Given the description of an element on the screen output the (x, y) to click on. 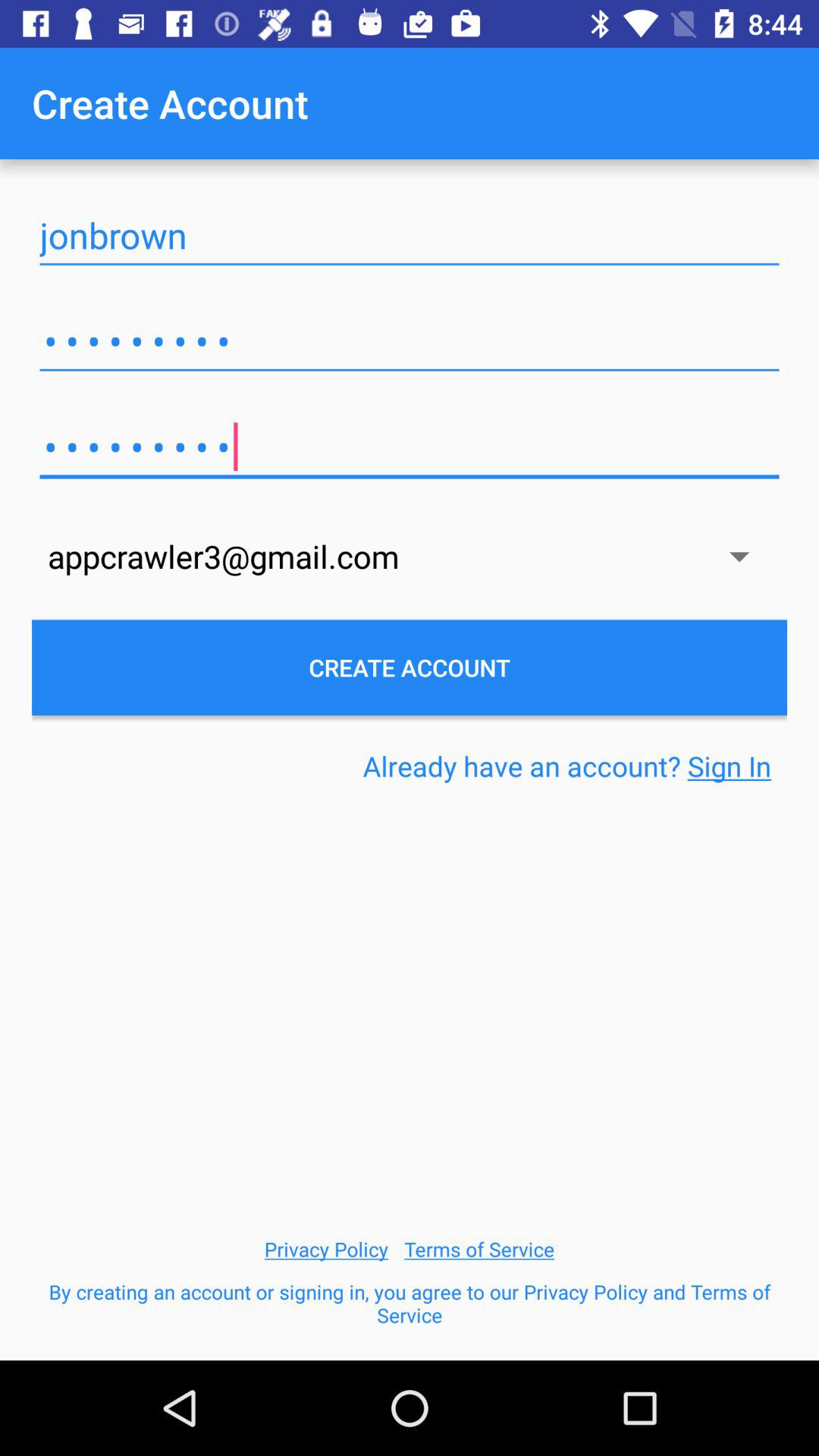
click item below create account icon (409, 235)
